Given the description of an element on the screen output the (x, y) to click on. 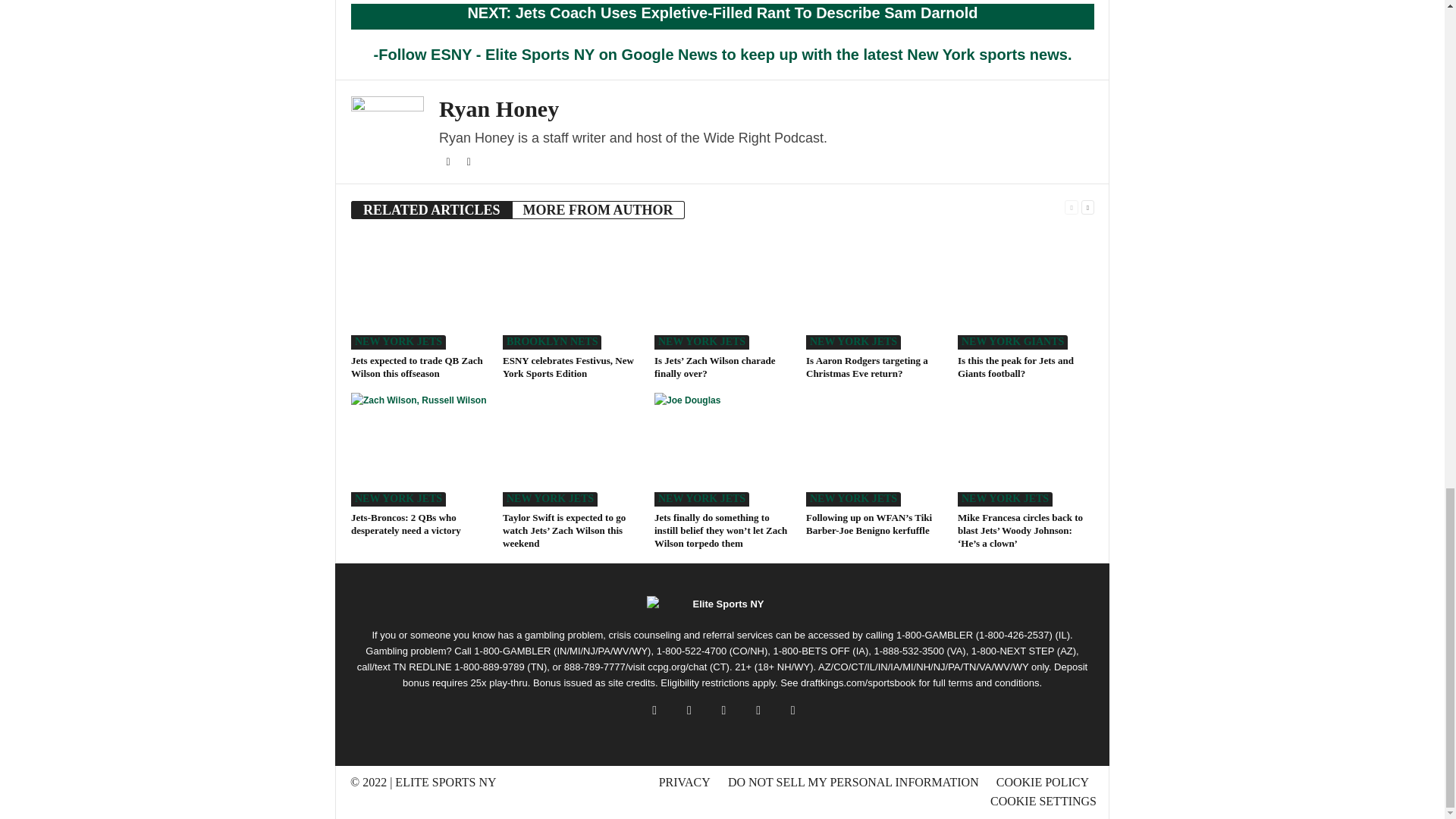
Linkedin (468, 162)
Jets expected to trade QB Zach Wilson this offseason (418, 292)
ESNY celebrates Festivus, New York Sports Edition (570, 292)
Jets expected to trade QB Zach Wilson this offseason (416, 366)
Twitter (449, 162)
